Given the description of an element on the screen output the (x, y) to click on. 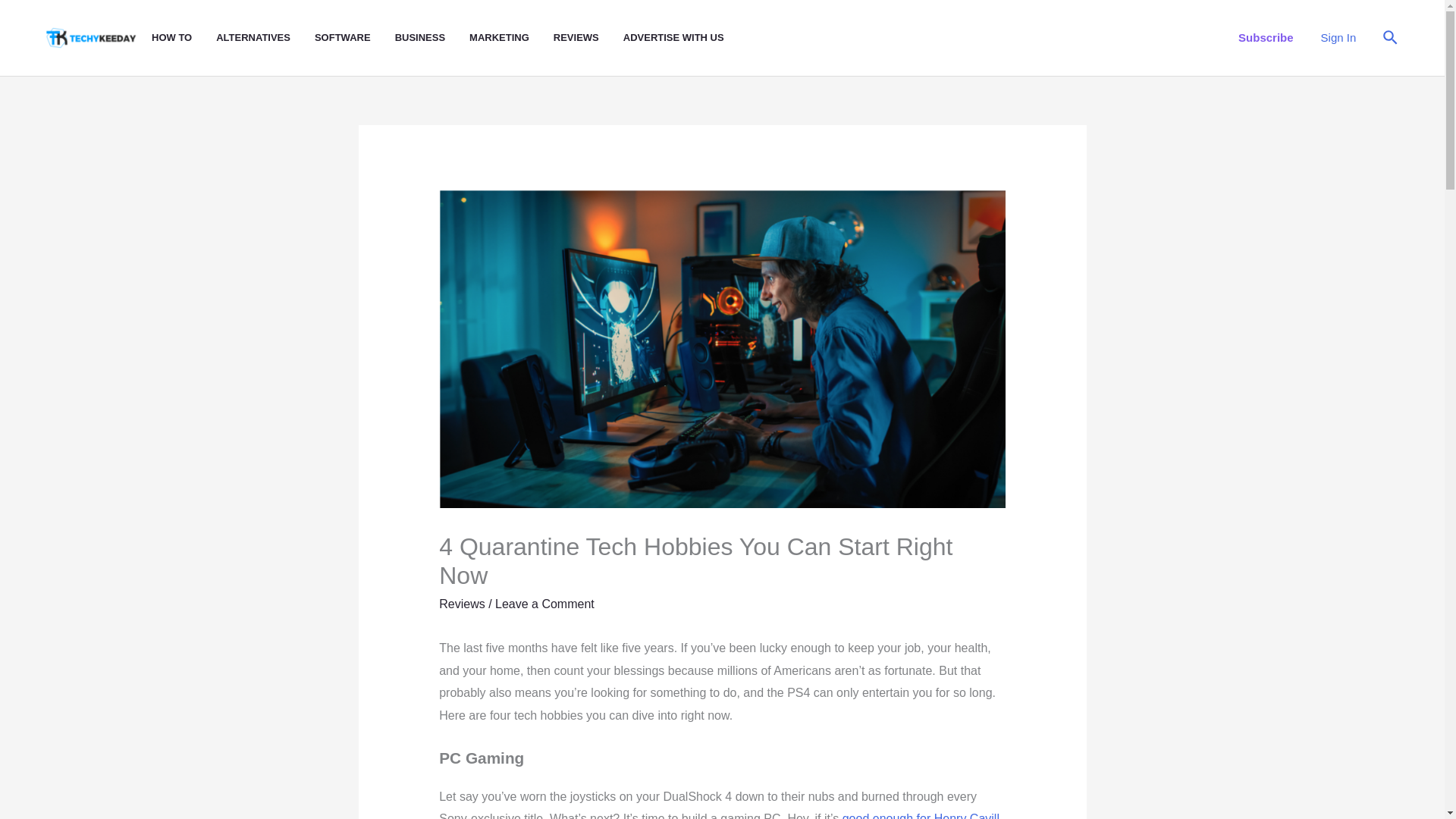
ADVERTISE WITH US (685, 38)
Reviews (461, 603)
BUSINESS (431, 38)
Sign In (1338, 37)
Leave a Comment (544, 603)
ALTERNATIVES (264, 38)
good enough for Henry Cavill (920, 815)
SOFTWARE (354, 38)
Subscribe (1266, 37)
MARKETING (510, 38)
